Given the description of an element on the screen output the (x, y) to click on. 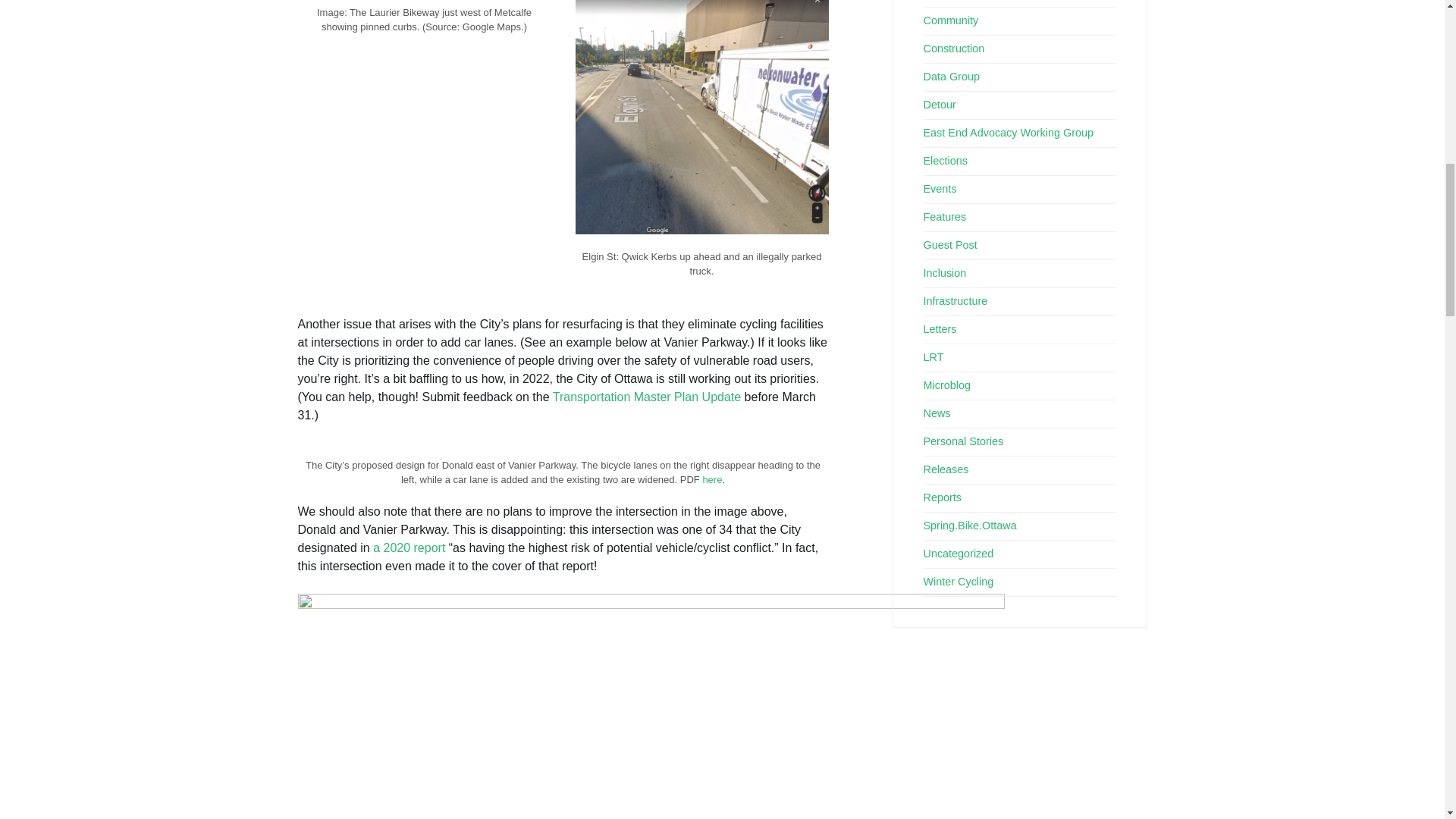
Transportation Master Plan Update (647, 397)
